Given the description of an element on the screen output the (x, y) to click on. 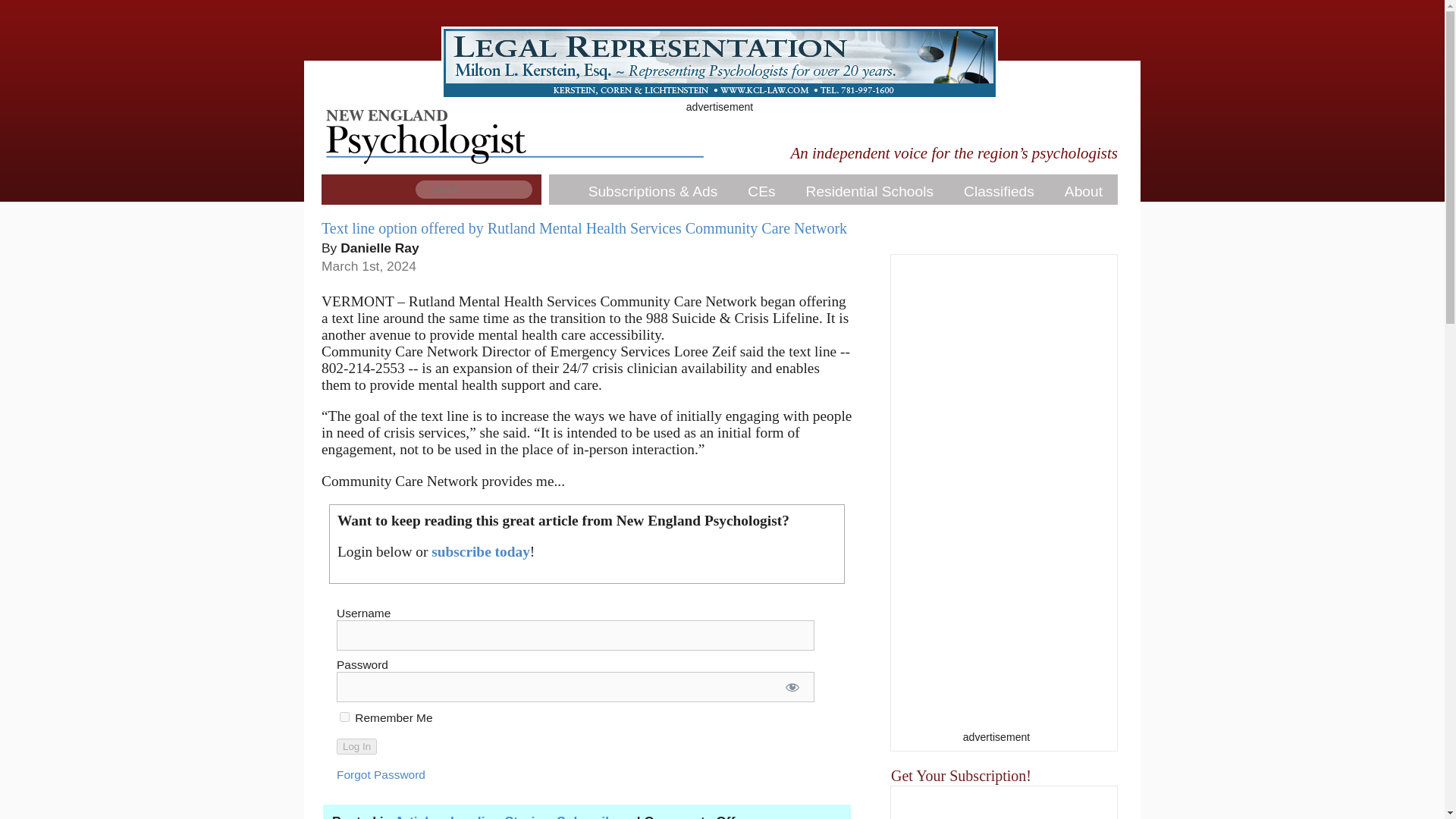
Articles (419, 816)
Back to homepage. (513, 174)
About (1083, 191)
CEs (761, 191)
Forgot Password (380, 774)
Leading Stories (499, 816)
Residential Schools (869, 191)
subscribe today (479, 551)
forever (344, 716)
Subscribers (594, 816)
Classifieds (999, 191)
Log In (356, 746)
Log In (356, 746)
